Given the description of an element on the screen output the (x, y) to click on. 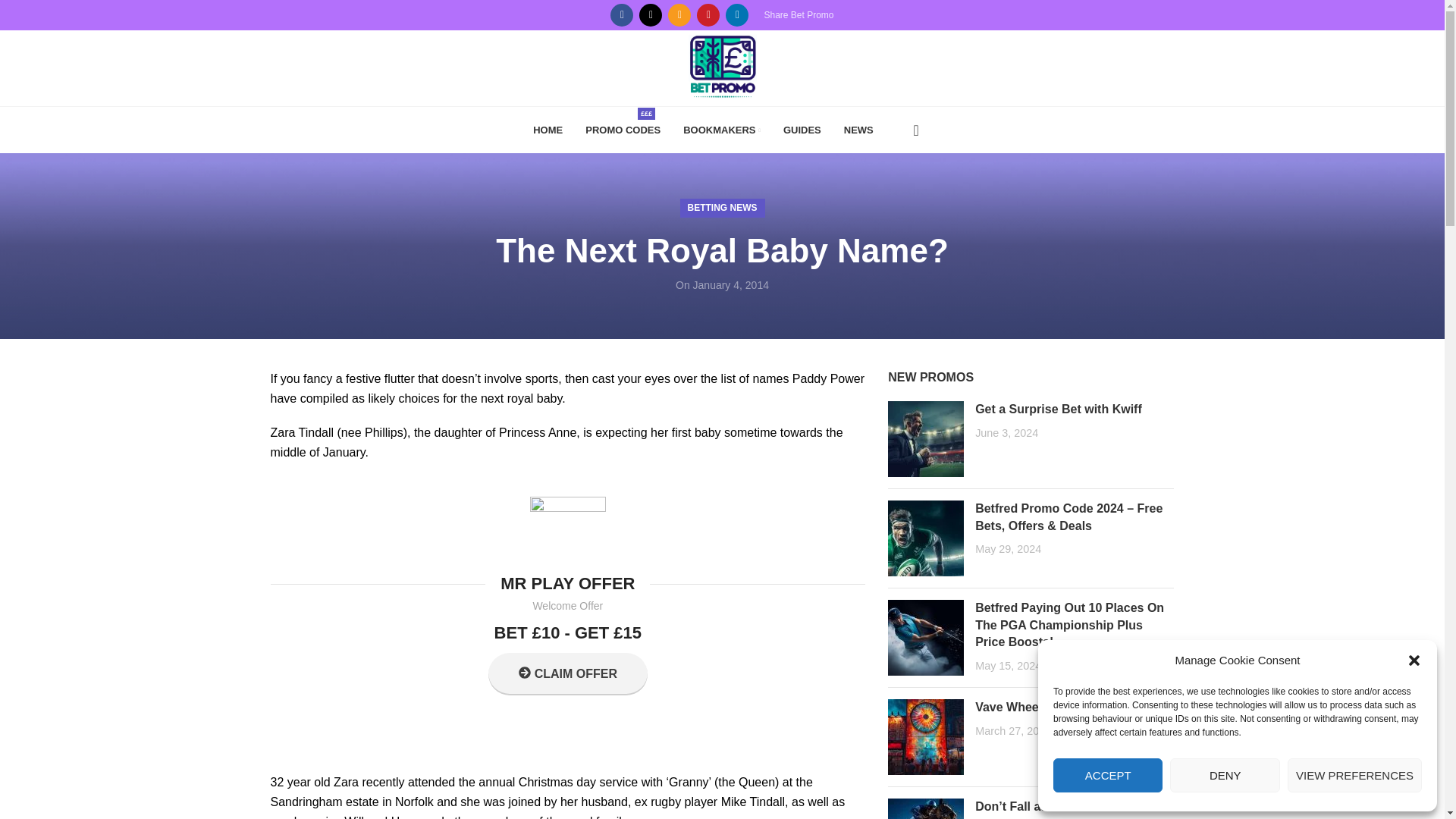
DENY (1224, 775)
VIEW PREFERENCES (1354, 775)
BETTING NEWS (722, 208)
Permalink to Vave Wheel of Fortune Promo (1061, 707)
CLAIM OFFER (567, 673)
NEWS (858, 130)
GUIDES (802, 130)
BOOKMAKERS (721, 130)
ACCEPT (1106, 775)
Permalink to Get a Surprise Bet with Kwiff (1058, 408)
HOME (547, 130)
